Given the description of an element on the screen output the (x, y) to click on. 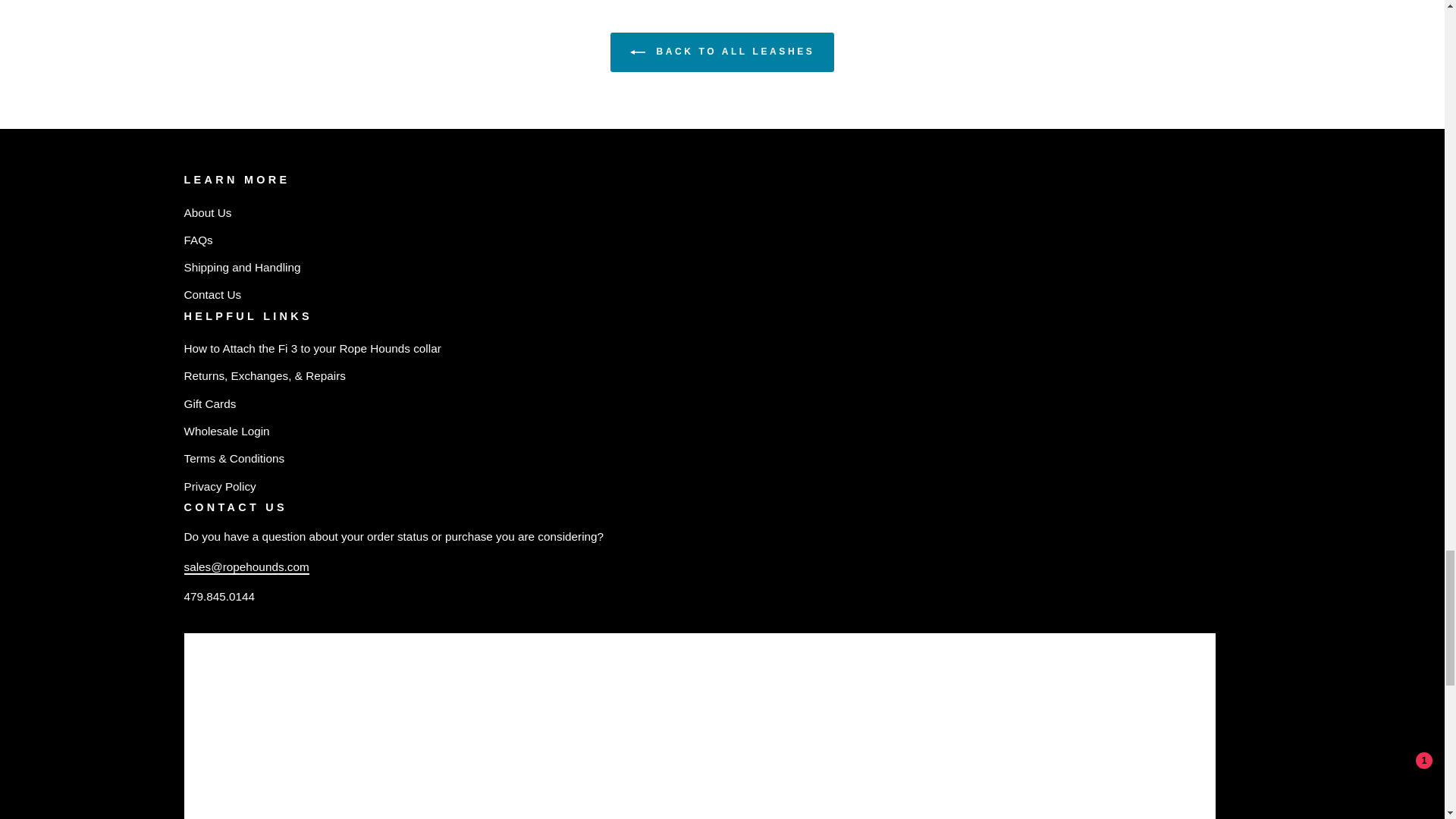
ICON-LEFT-ARROW (637, 52)
